Given the description of an element on the screen output the (x, y) to click on. 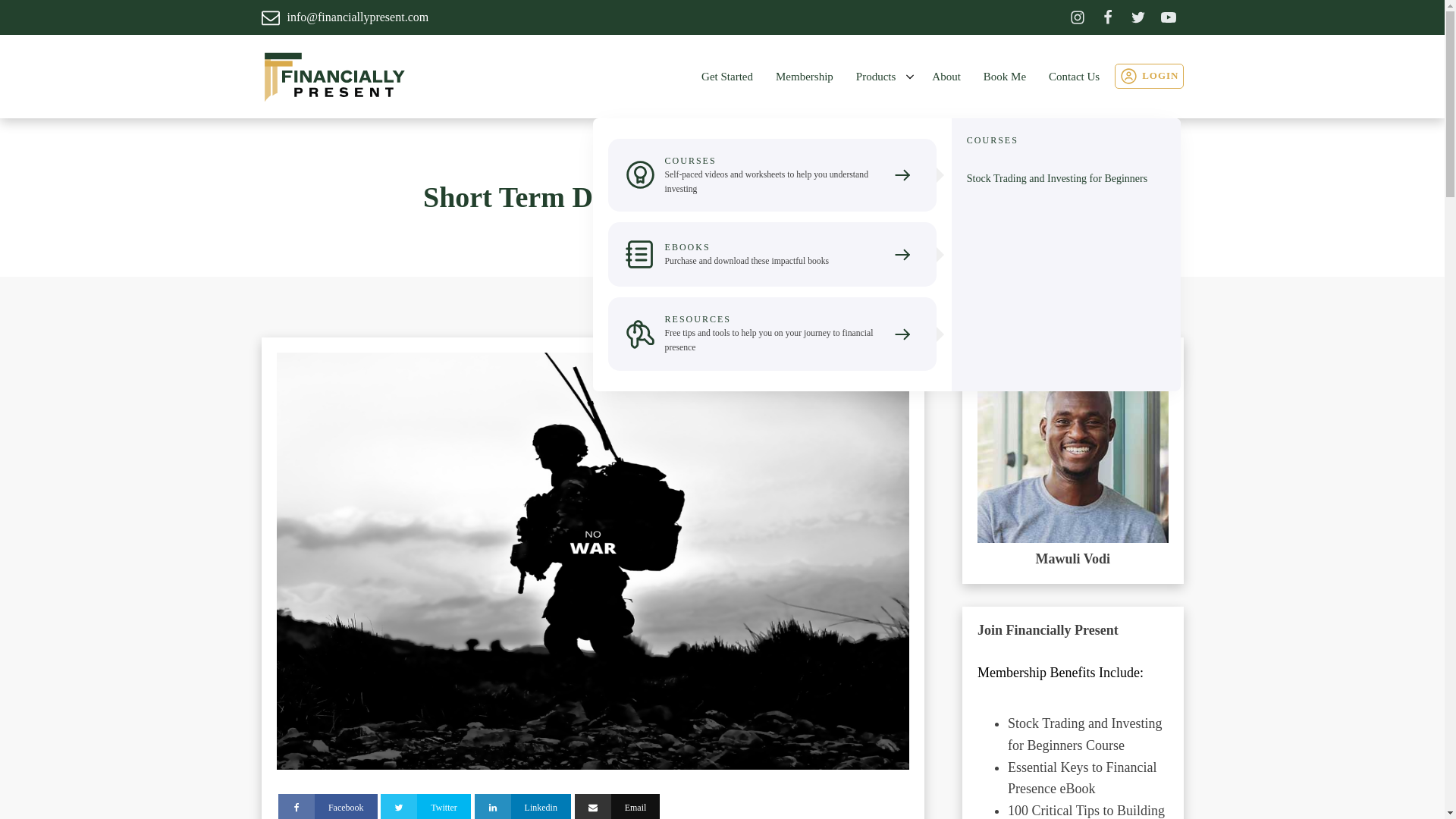
Membership (808, 76)
Book Me (1008, 76)
EBOOKS (687, 247)
Stock Trading and Investing for Beginners (1056, 178)
Get Started (730, 76)
RESOURCES (697, 319)
COURSES (690, 160)
About (949, 76)
Products (886, 76)
COURSES (991, 140)
Contact Us (1077, 76)
